Given the description of an element on the screen output the (x, y) to click on. 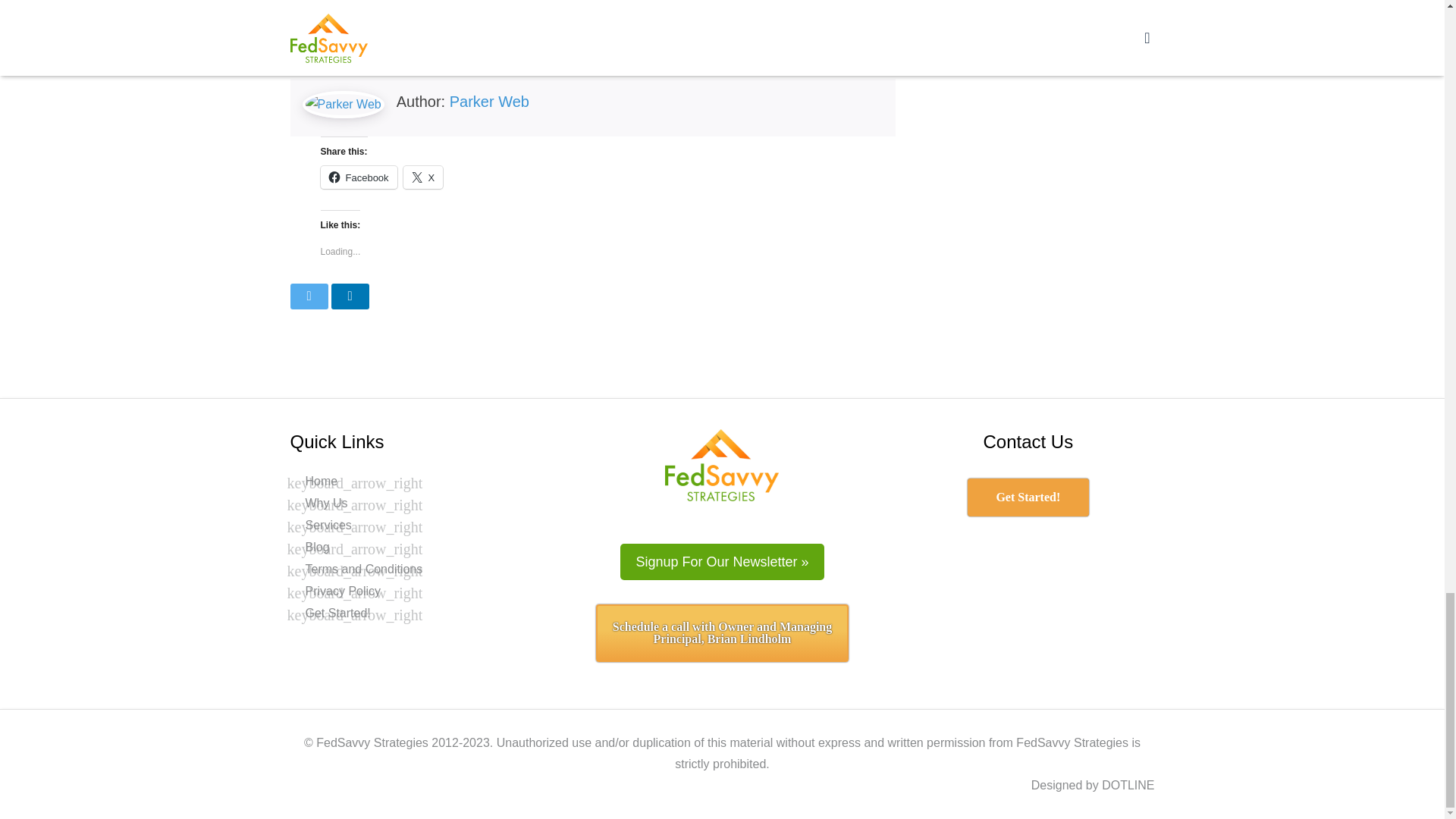
X (423, 177)
Click to share on Facebook (358, 177)
Facebook (358, 177)
Tweet this (308, 296)
Click to share on X (423, 177)
Share this (349, 296)
Parker Web (489, 101)
